Given the description of an element on the screen output the (x, y) to click on. 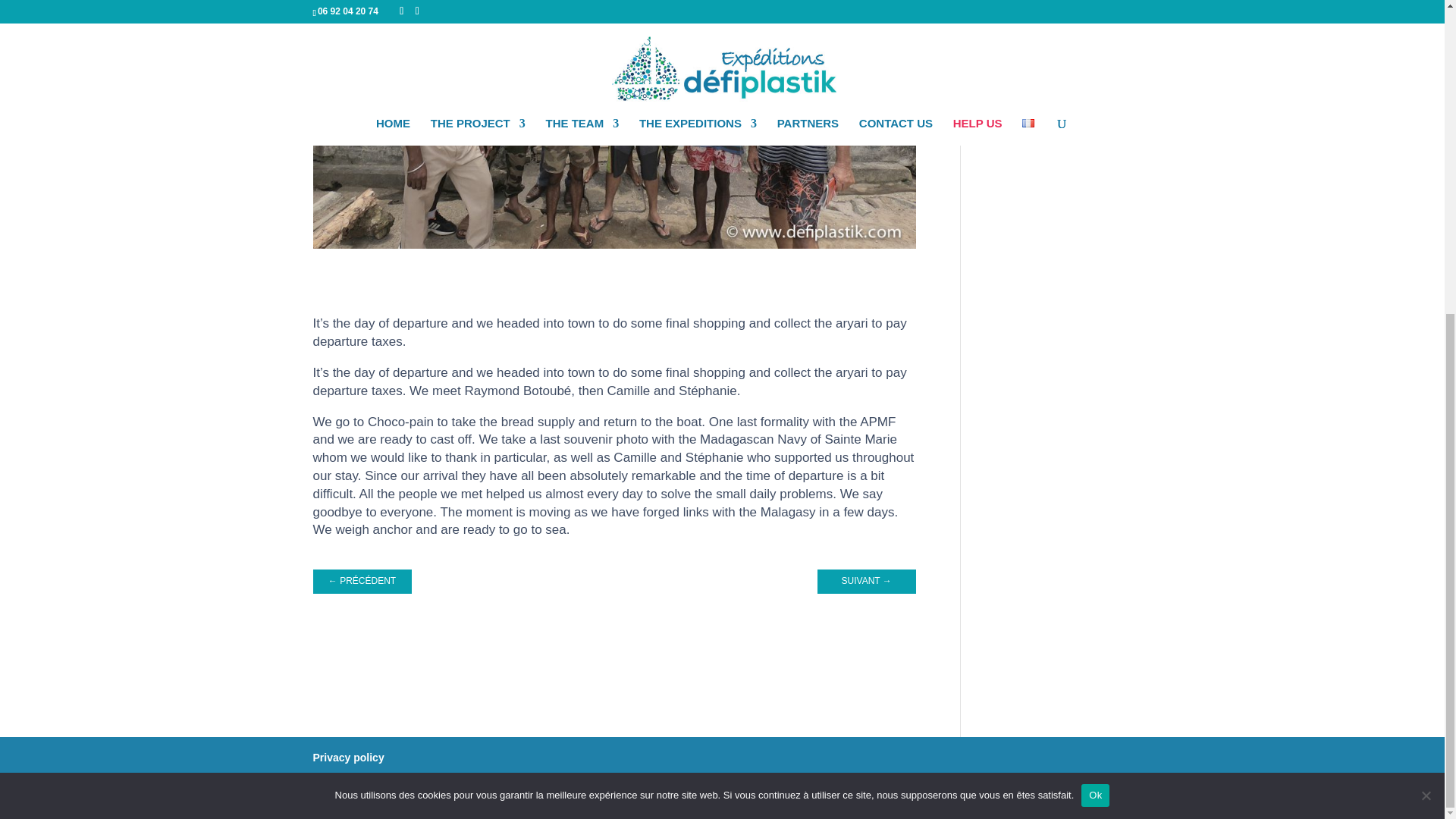
Non (1425, 294)
